Given the description of an element on the screen output the (x, y) to click on. 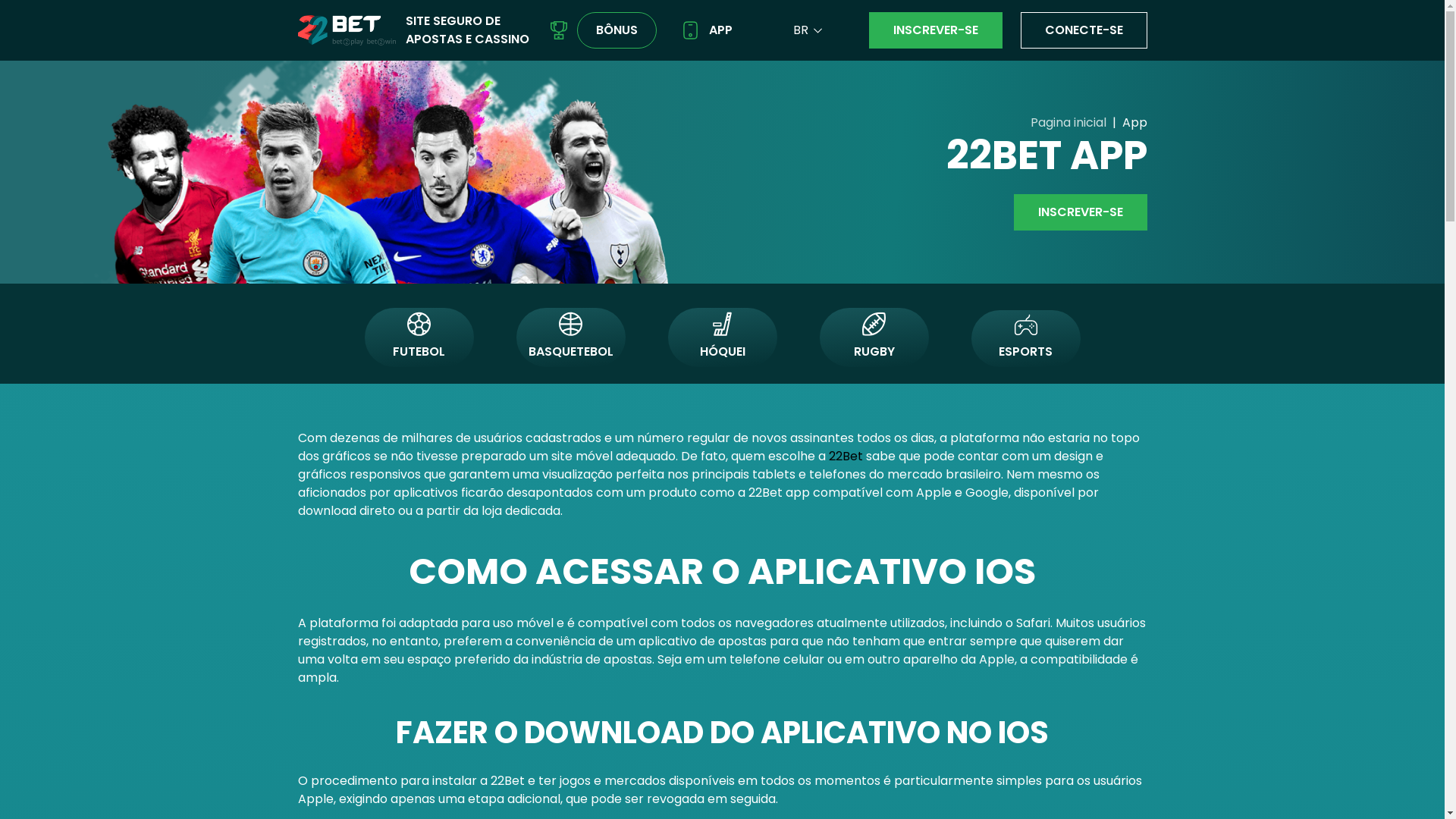
Pagina inicial Element type: text (1067, 122)
INSCREVER-SE Element type: text (935, 30)
FUTEBOL Element type: text (418, 337)
RUGBY Element type: text (873, 337)
BASQUETEBOL Element type: text (569, 337)
eSports Element type: hover (1025, 324)
CONECTE-SE Element type: text (1083, 30)
Rugby Element type: hover (873, 323)
Bonuses22Bet Bonuses Element type: hover (558, 30)
APP Element type: text (705, 29)
22Bet Element type: hover (346, 30)
22Bet App Element type: hover (689, 30)
ESPORTS Element type: text (1024, 338)
Futebol Element type: hover (418, 323)
22Bet Element type: text (845, 455)
INSCREVER-SE Element type: text (1079, 212)
BR Element type: text (800, 30)
Basquetebol Element type: hover (570, 323)
